Given the description of an element on the screen output the (x, y) to click on. 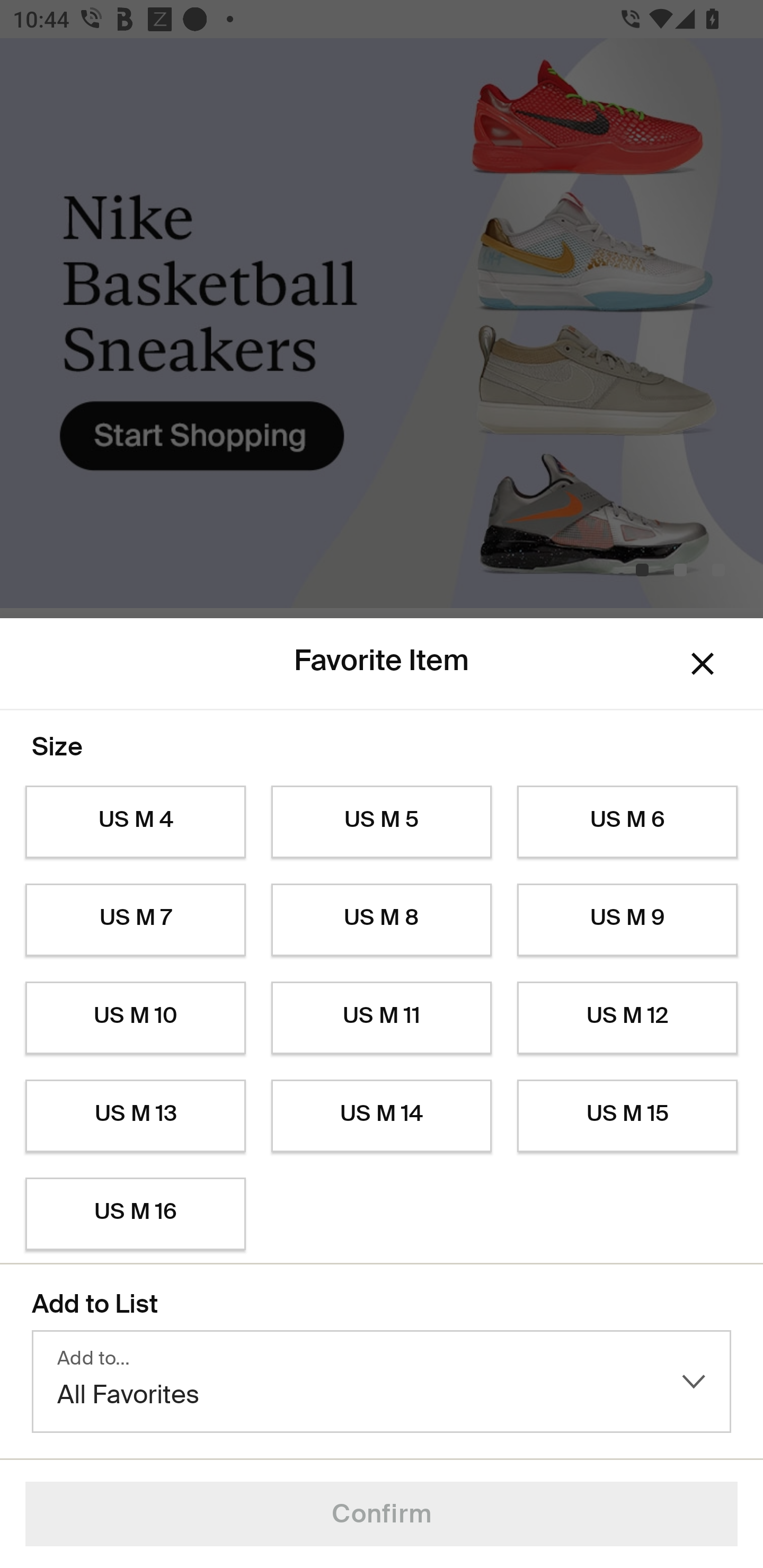
Dismiss (702, 663)
US M 4 (135, 822)
US M 5 (381, 822)
US M 6 (627, 822)
US M 7 (135, 919)
US M 8 (381, 919)
US M 9 (627, 919)
US M 10 (135, 1018)
US M 11 (381, 1018)
US M 12 (627, 1018)
US M 13 (135, 1116)
US M 14 (381, 1116)
US M 15 (627, 1116)
US M 16 (135, 1214)
Add to… All Favorites (381, 1381)
Confirm (381, 1513)
